Given the description of an element on the screen output the (x, y) to click on. 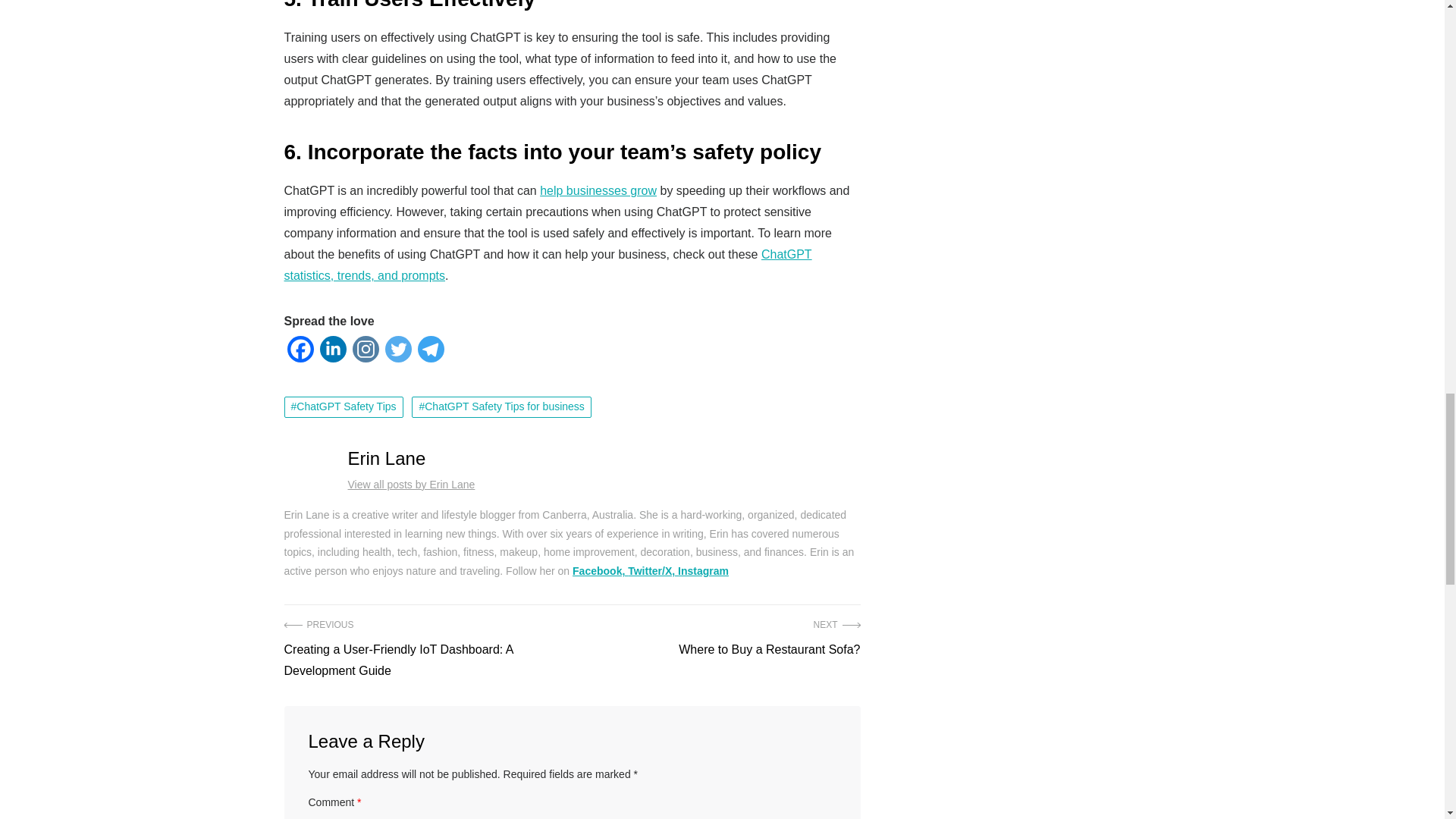
View all posts by Erin Lane (410, 484)
ChatGPT statistics, trends, and prompts (546, 264)
ChatGPT Safety Tips for business (501, 406)
help businesses grow (598, 190)
ChatGPT Safety Tips (343, 406)
